Given the description of an element on the screen output the (x, y) to click on. 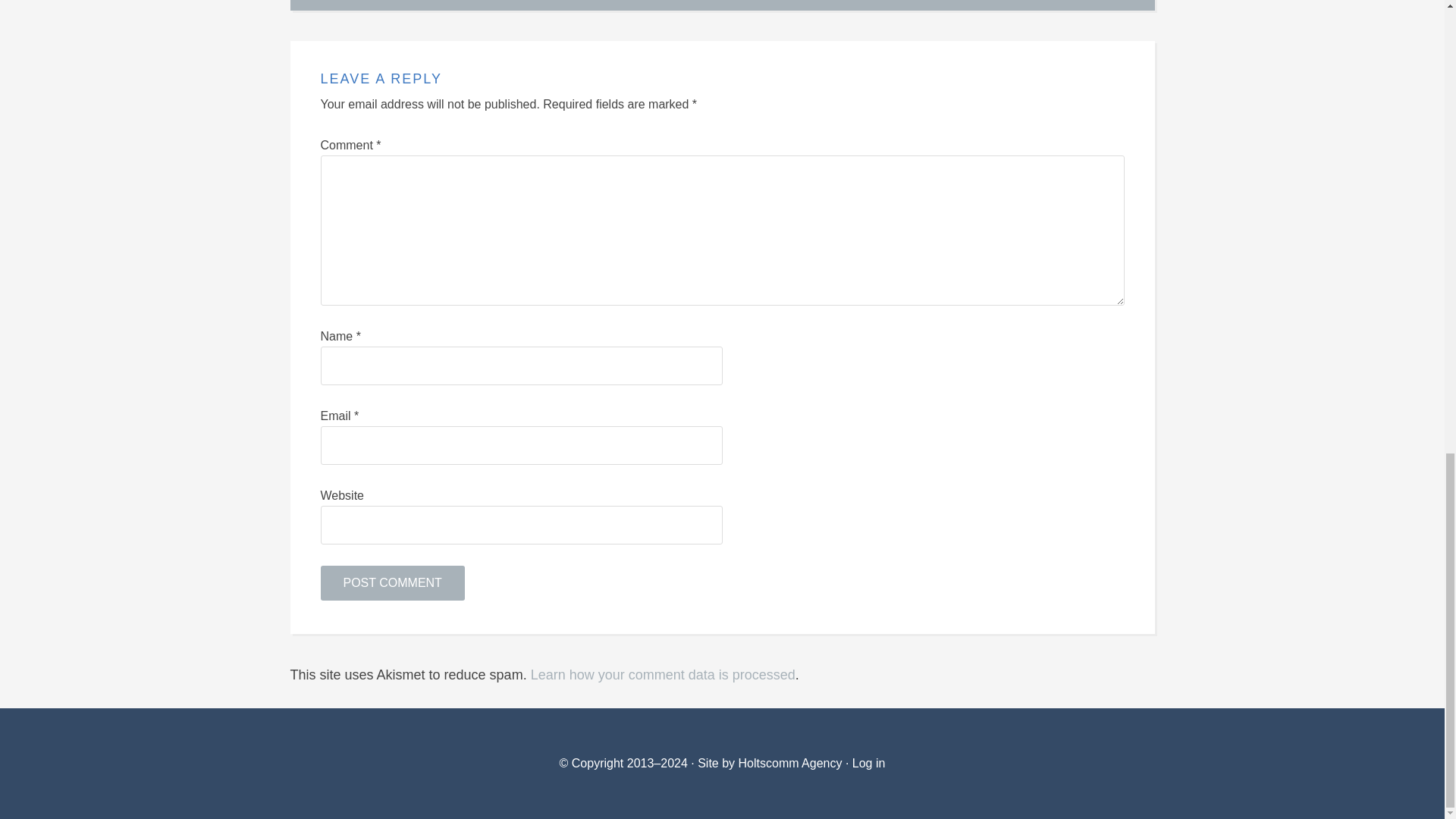
Learn how your comment data is processed (662, 674)
Post Comment (392, 582)
Log in (868, 762)
Post Comment (392, 582)
Holtscomm Agency (788, 762)
